Given the description of an element on the screen output the (x, y) to click on. 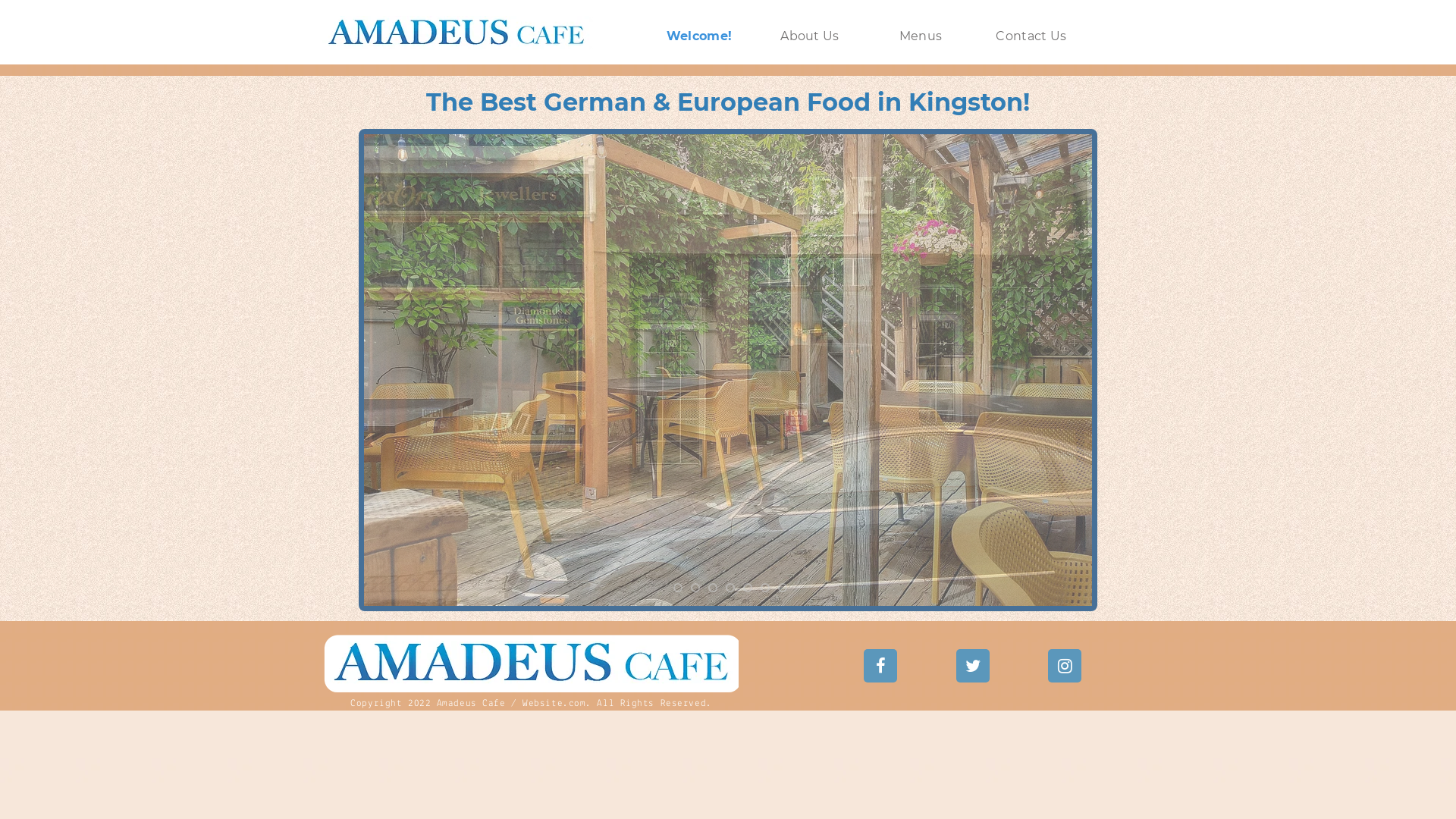
Contact Us Element type: text (1030, 35)
Welcome! Element type: text (698, 35)
Menus Element type: text (920, 35)
About Us Element type: text (809, 35)
